Given the description of an element on the screen output the (x, y) to click on. 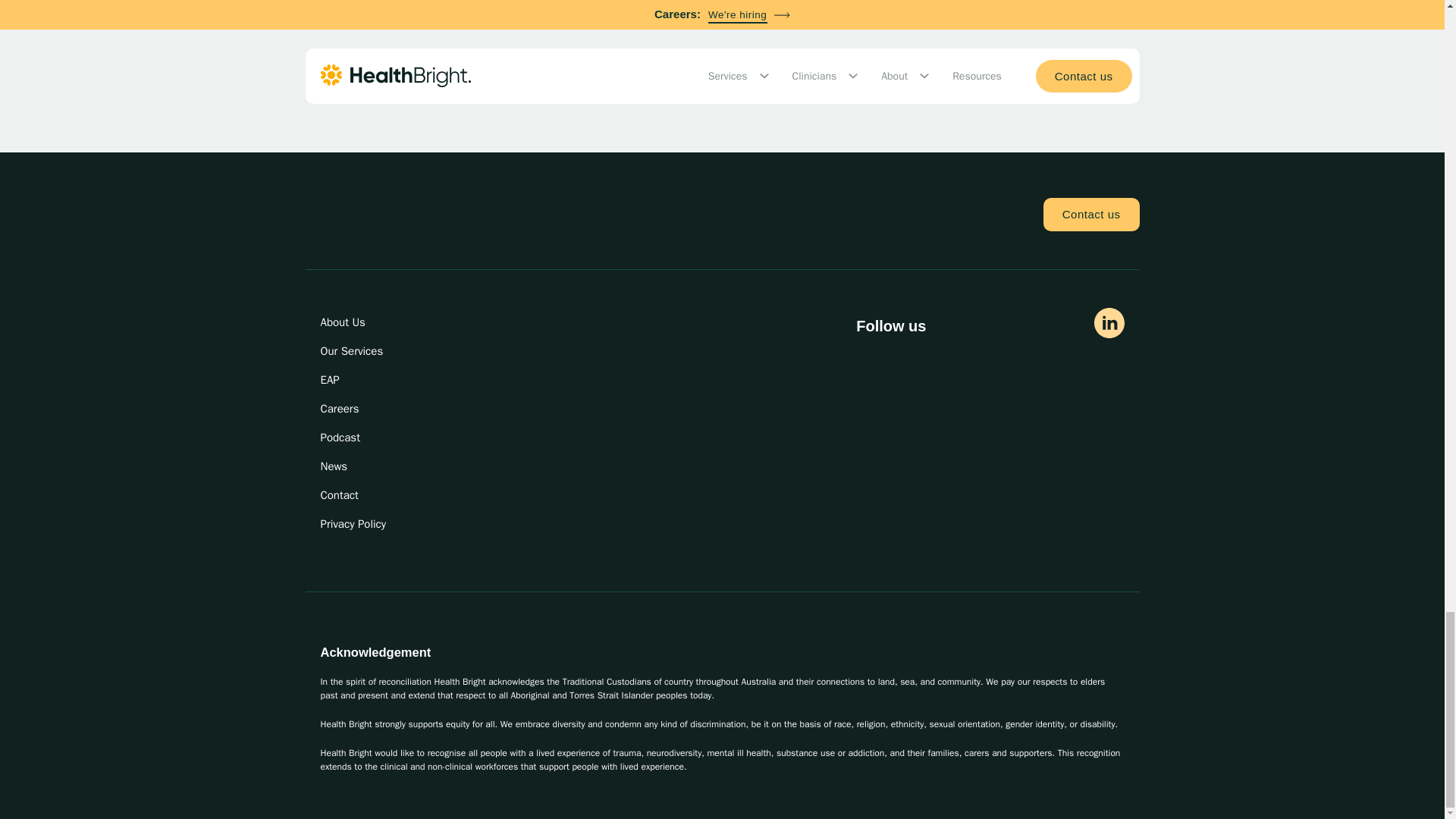
Podcast (364, 437)
EAP (364, 379)
Careers (364, 408)
Our Services (364, 350)
Contact us (1091, 214)
About Us (364, 321)
